Given the description of an element on the screen output the (x, y) to click on. 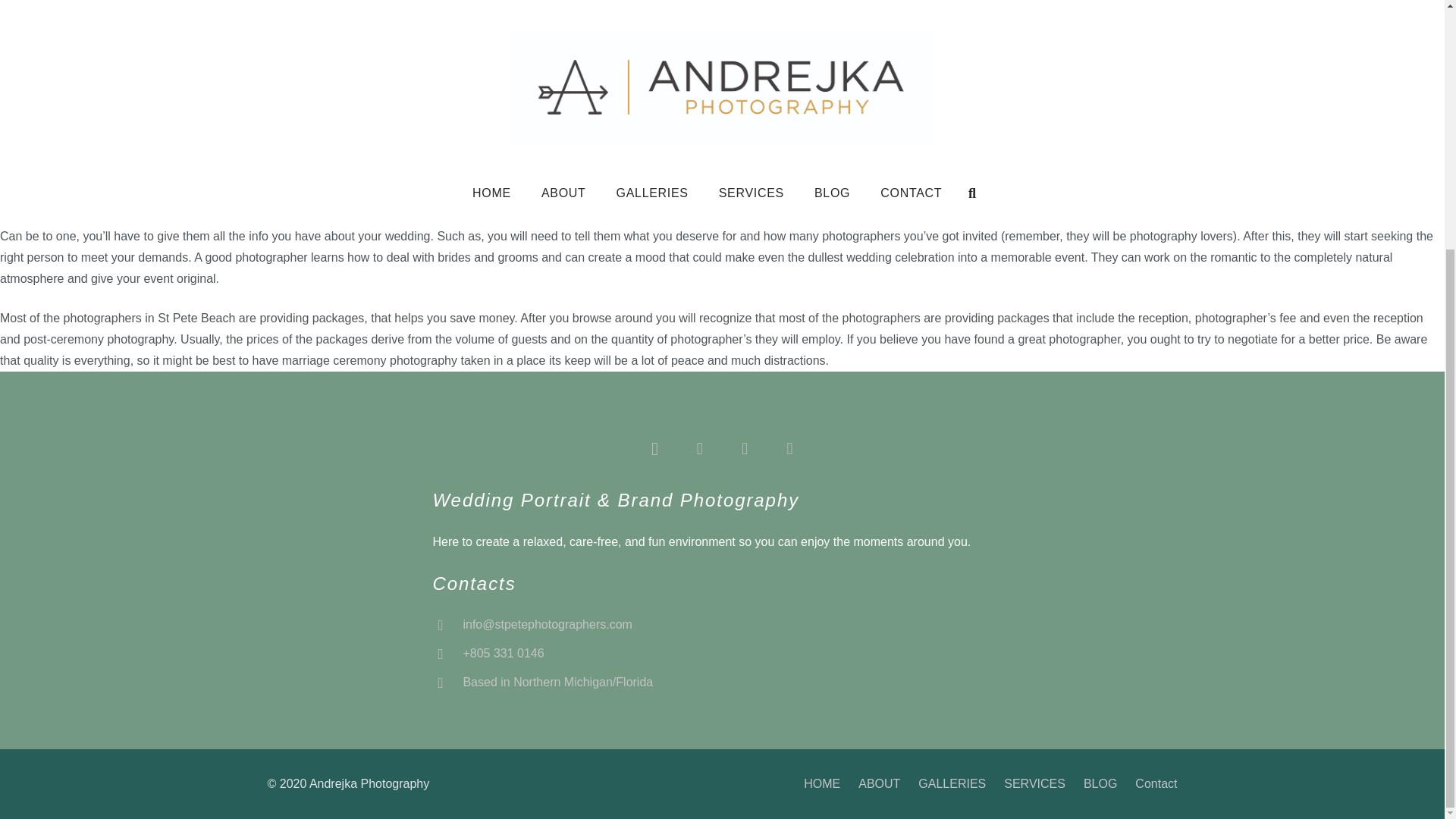
SERVICES (1034, 783)
HOME (821, 783)
GALLERIES (951, 783)
Instagram (654, 448)
ABOUT (879, 783)
Pinterest (744, 448)
YouTube (789, 448)
Facebook (699, 448)
Contact (1155, 783)
BLOG (1099, 783)
